Given the description of an element on the screen output the (x, y) to click on. 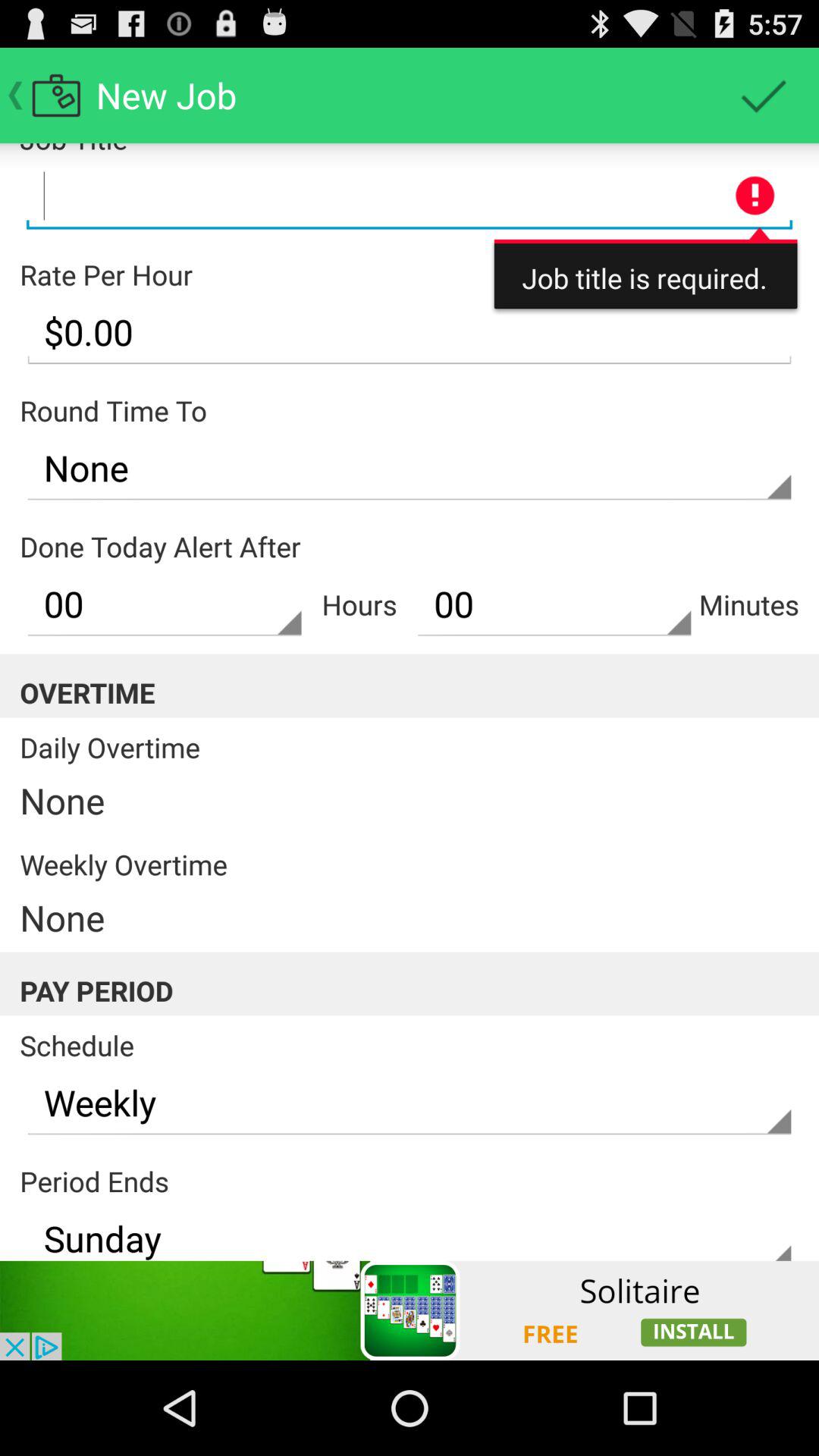
advertisement (409, 1310)
